Given the description of an element on the screen output the (x, y) to click on. 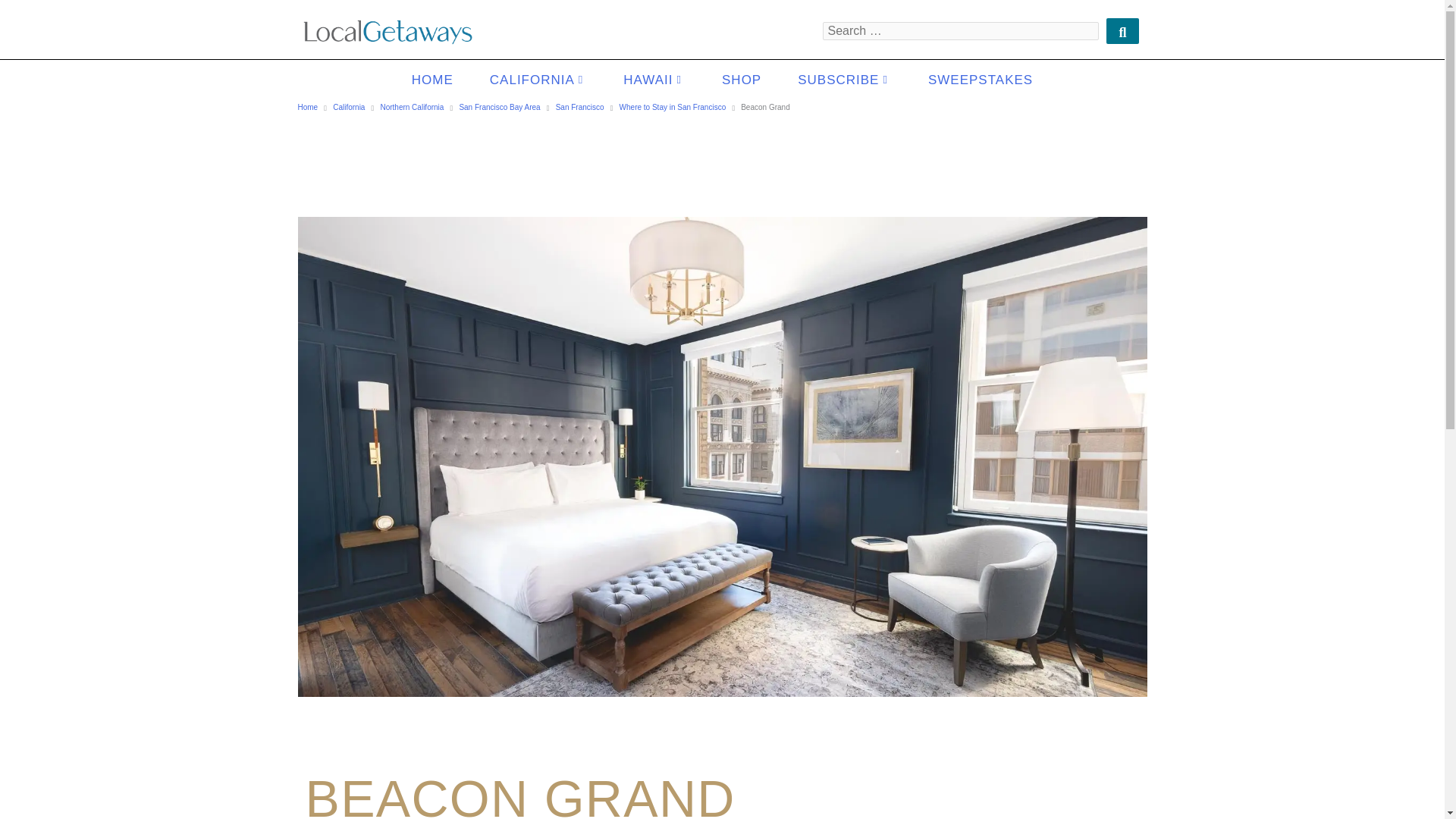
SWEEPSTAKES (980, 79)
Home (307, 107)
Northern California (412, 107)
San Francisco Bay Area (499, 107)
California (349, 107)
San Francisco (580, 107)
HAWAII (654, 79)
SHOP (740, 79)
HOME (432, 79)
SUBSCRIBE (844, 79)
CALIFORNIA (538, 79)
Where to Stay in San Francisco (673, 107)
